Given the description of an element on the screen output the (x, y) to click on. 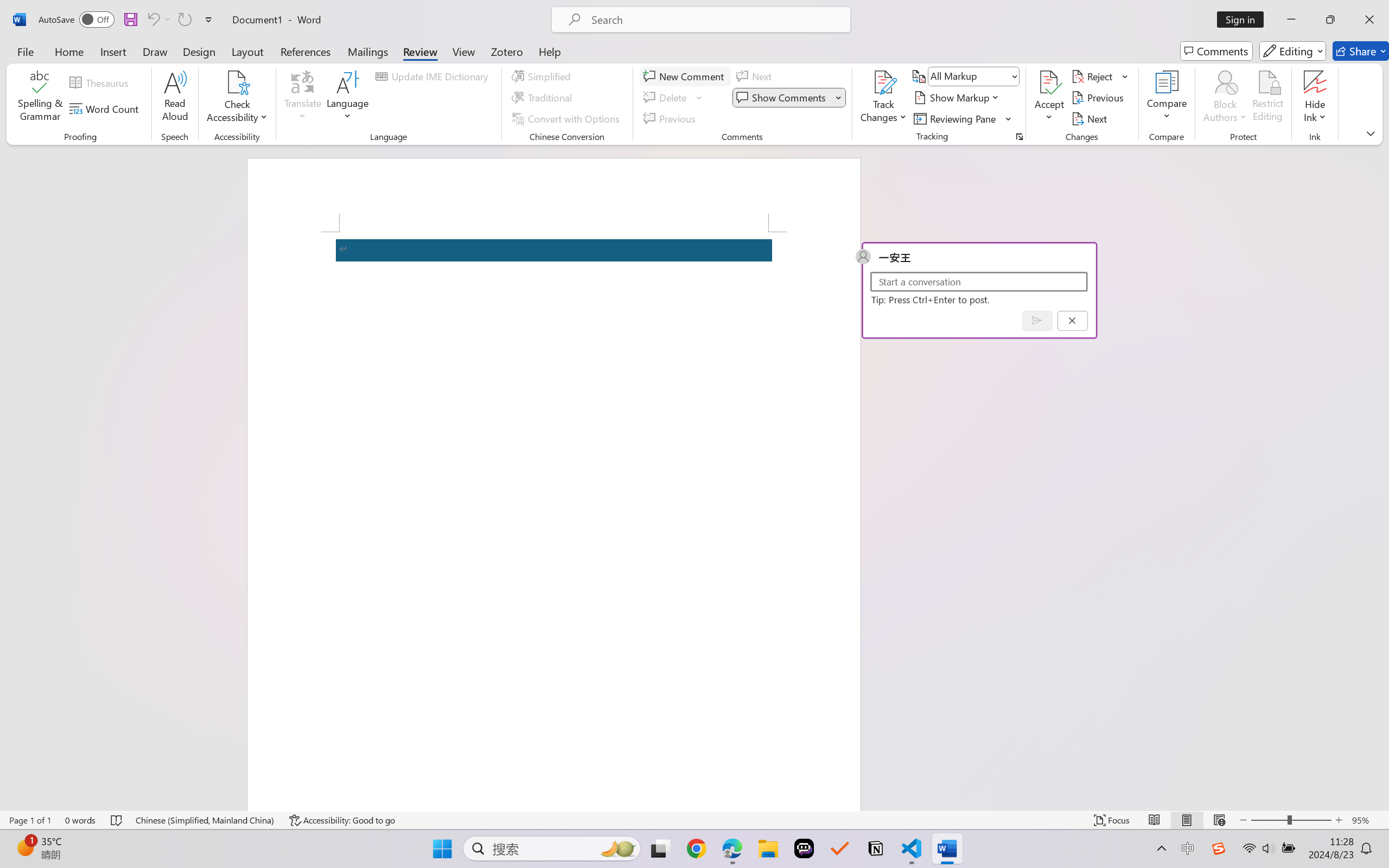
Accept (1049, 97)
Language (347, 97)
Reject and Move to Next (1093, 75)
Track Changes (883, 81)
Undo Apply Quick Style Set (152, 19)
Compare (1166, 97)
Spelling & Grammar (39, 97)
Post comment (Ctrl + Enter) (1036, 320)
Show Comments (782, 97)
